Given the description of an element on the screen output the (x, y) to click on. 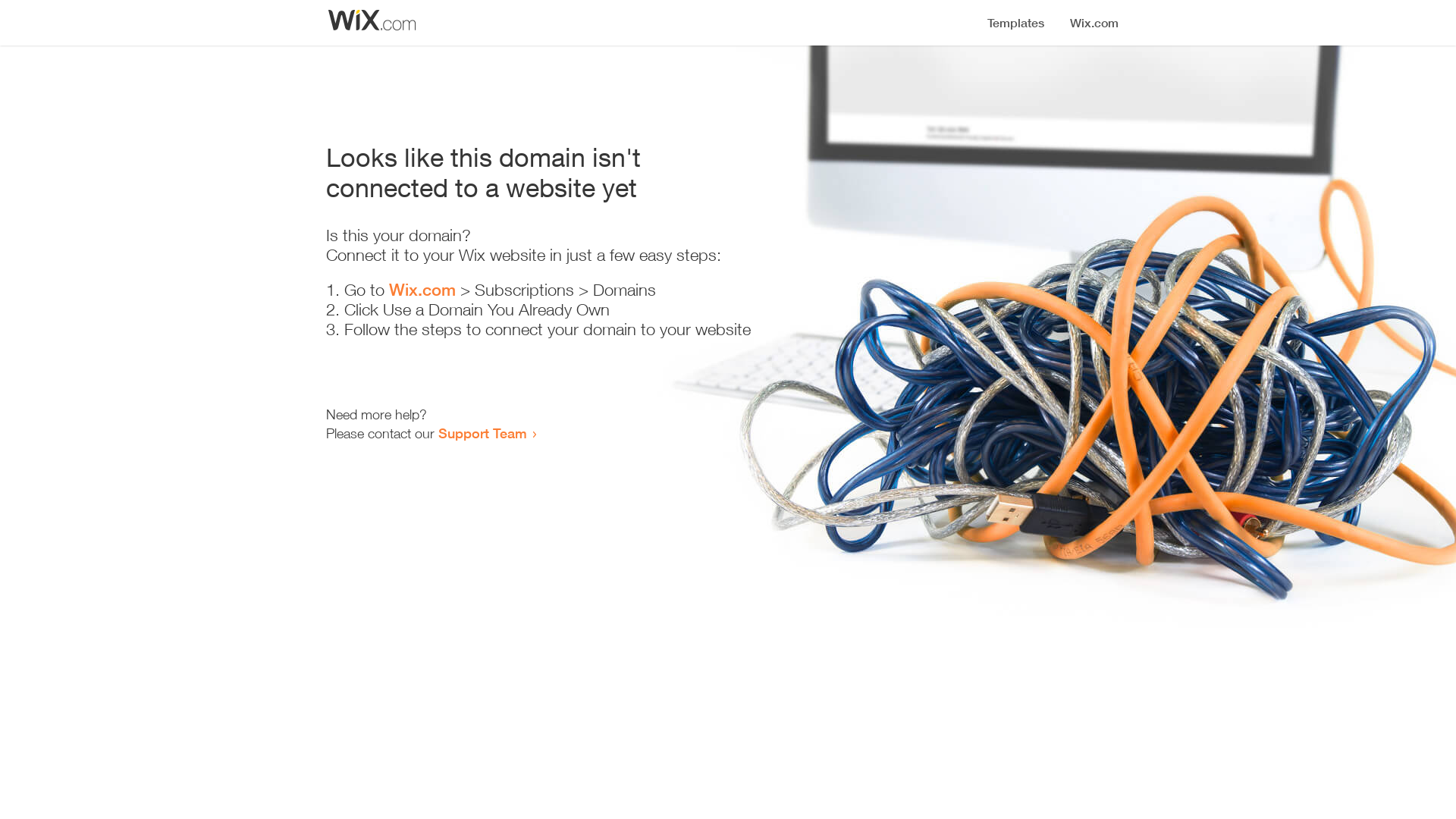
Support Team Element type: text (482, 432)
Wix.com Element type: text (422, 289)
